Given the description of an element on the screen output the (x, y) to click on. 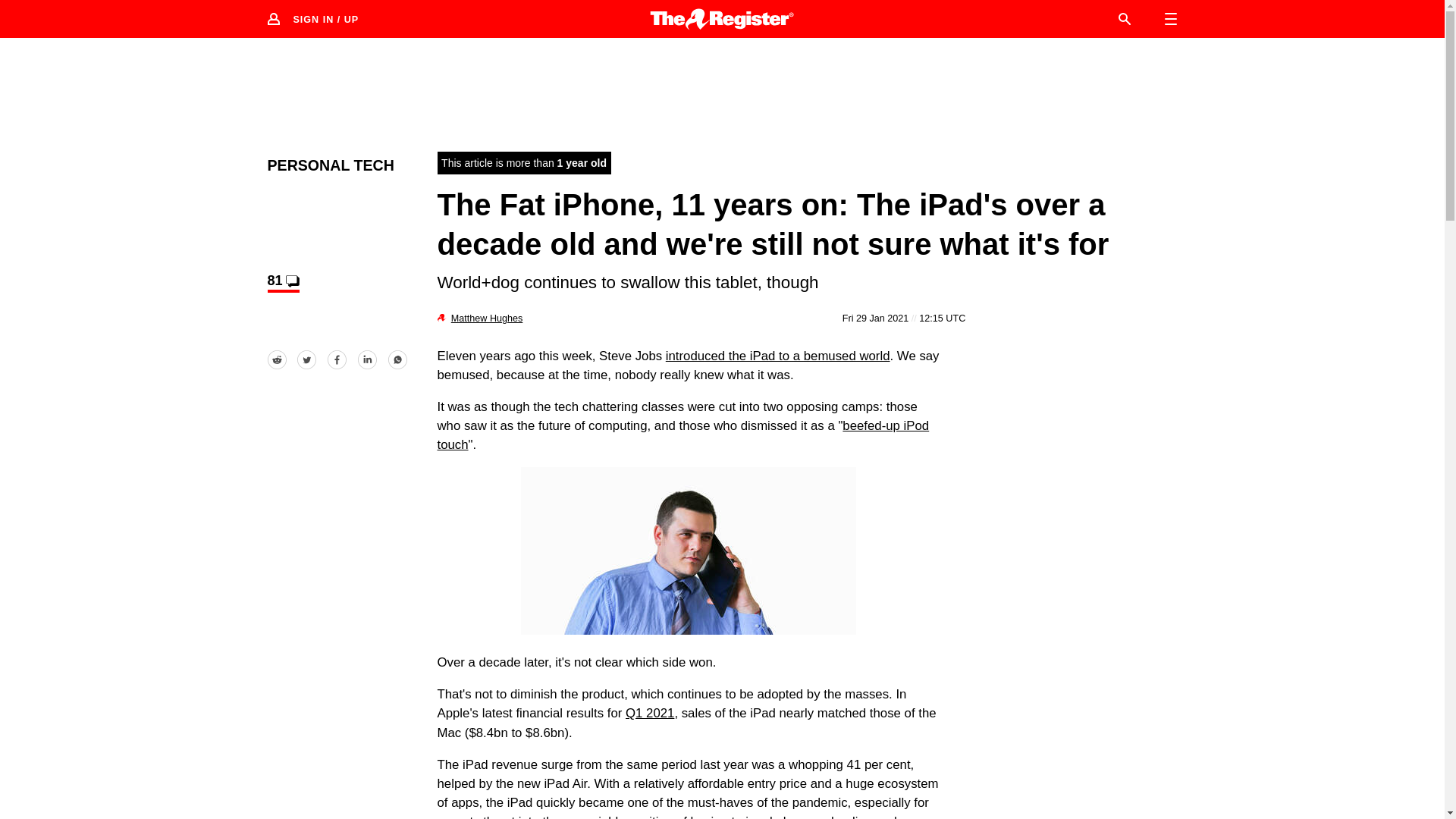
ipad phone (688, 550)
View comments on this article (282, 282)
Read more by this author (486, 318)
